Given the description of an element on the screen output the (x, y) to click on. 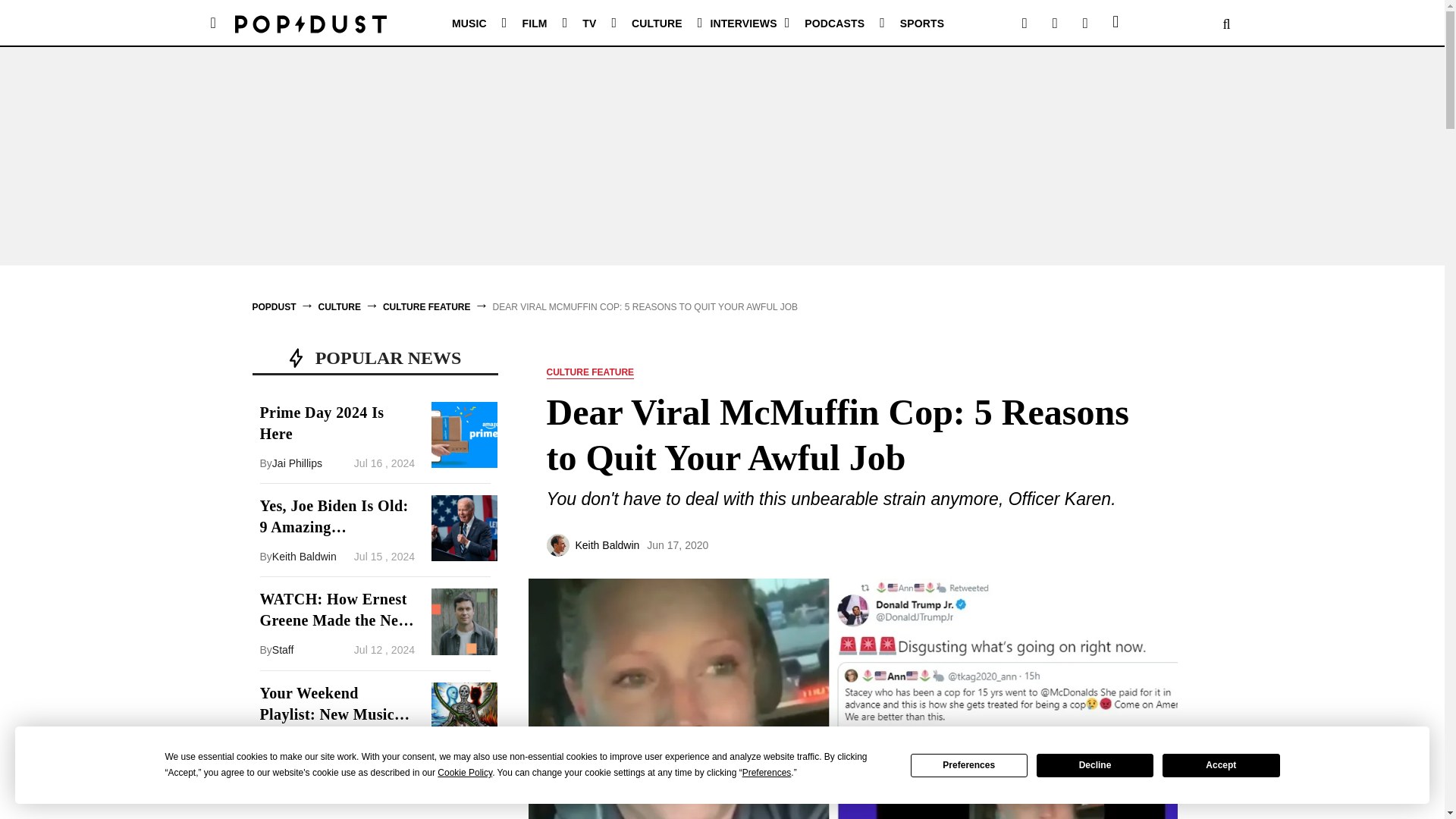
Decline (1094, 765)
Accept (1220, 765)
FILM (533, 22)
MUSIC (469, 22)
Preferences (969, 765)
